Given the description of an element on the screen output the (x, y) to click on. 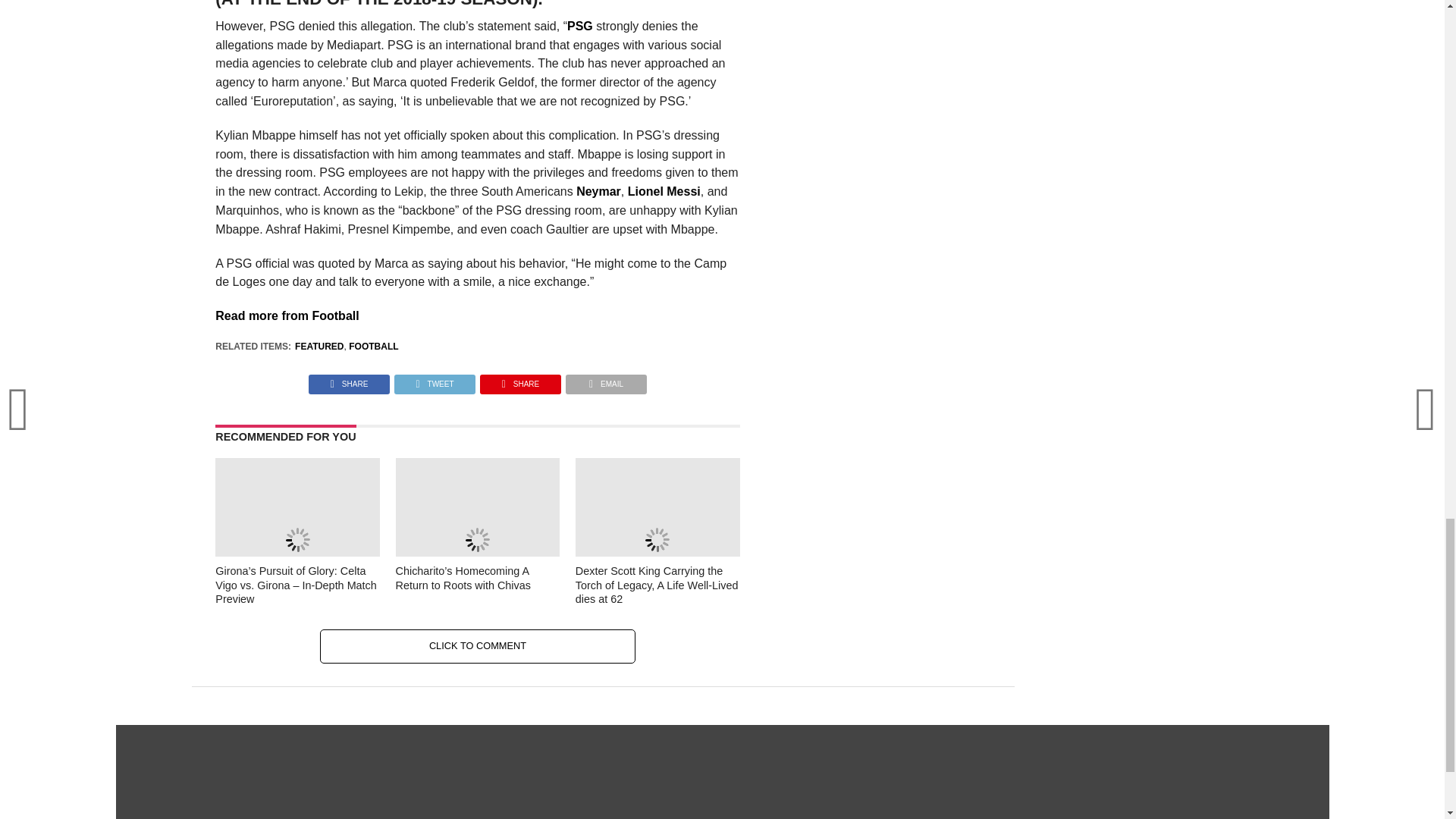
Share on Facebook (349, 379)
Pin This Post (520, 379)
Tweet This Post (434, 379)
